Given the description of an element on the screen output the (x, y) to click on. 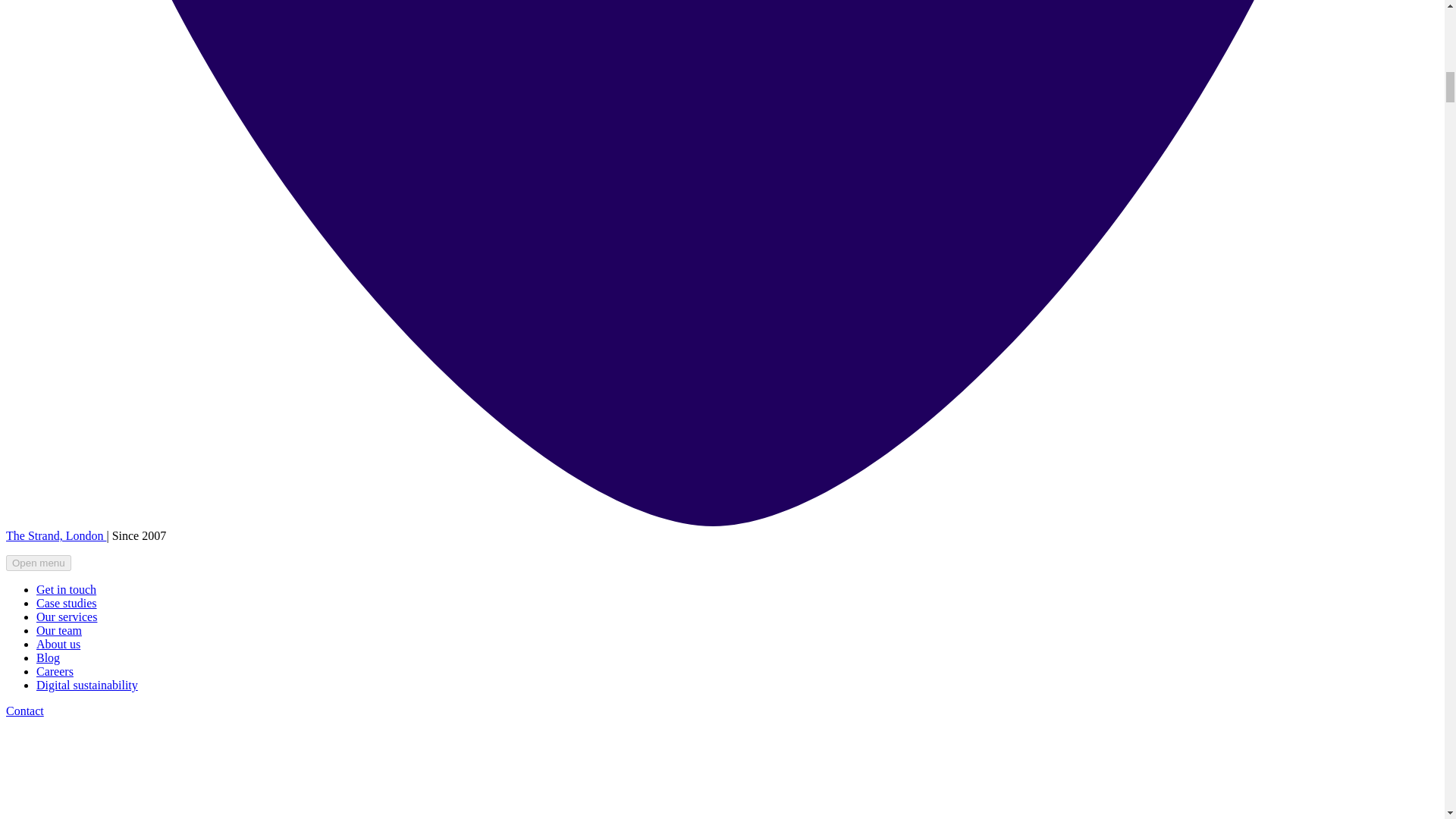
Case studies (66, 603)
Blog (47, 657)
Digital sustainability (87, 684)
Get in touch (66, 589)
Careers (55, 671)
Our team (58, 630)
Our services (66, 616)
Open menu (38, 562)
About us (58, 644)
